Given the description of an element on the screen output the (x, y) to click on. 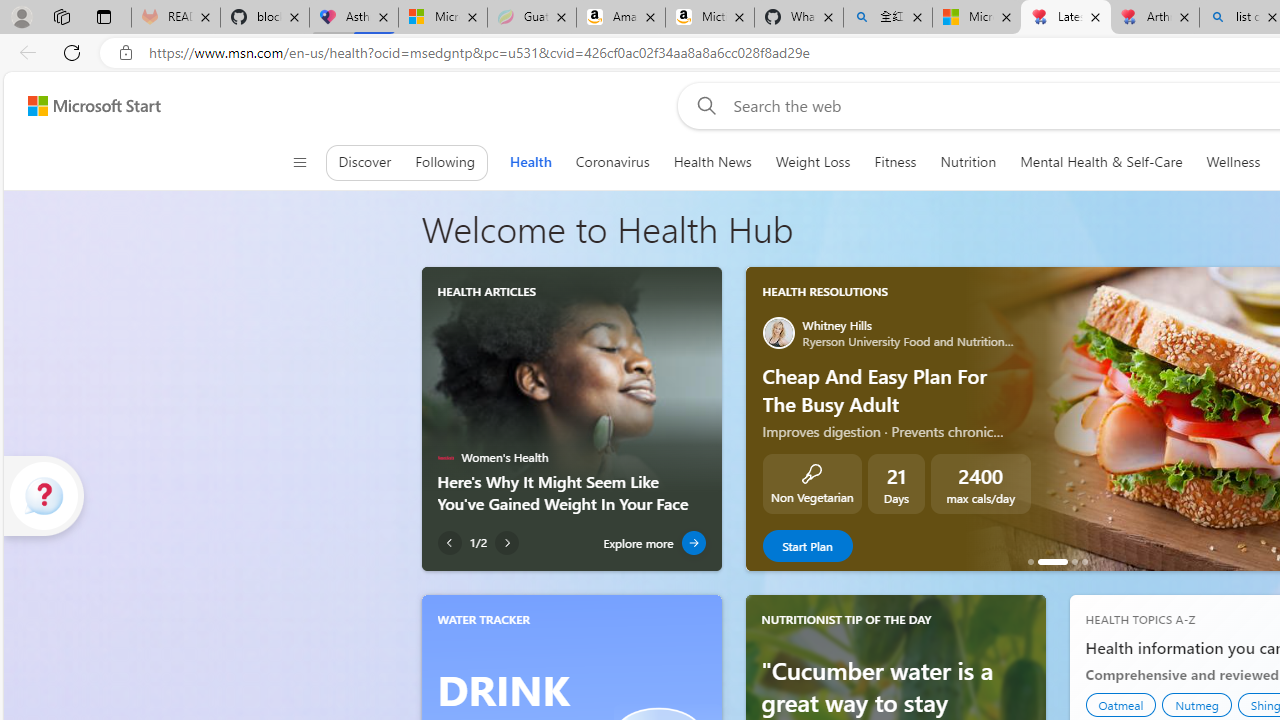
Ask Professionals Widget collapsed  (43, 495)
Health (530, 162)
Explore more (654, 543)
Previous Slide (759, 418)
Fitness (895, 162)
Wellness (1233, 162)
Class: control icon-only (299, 162)
Mental Health & Self-Care (1101, 162)
Coronavirus (612, 162)
Microsoft-Report a Concern to Bing (443, 17)
